Given the description of an element on the screen output the (x, y) to click on. 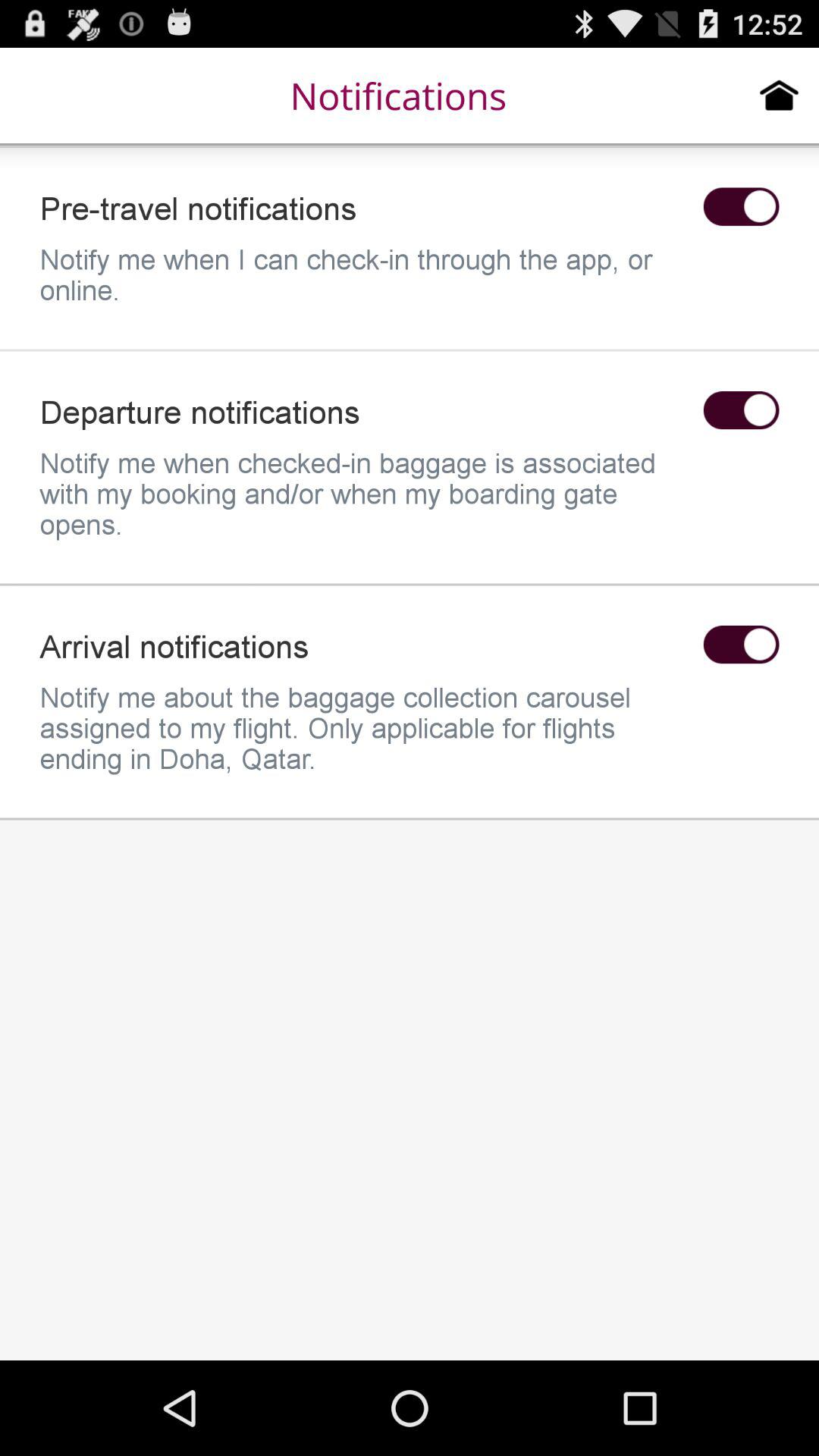
go to home page (779, 95)
